Given the description of an element on the screen output the (x, y) to click on. 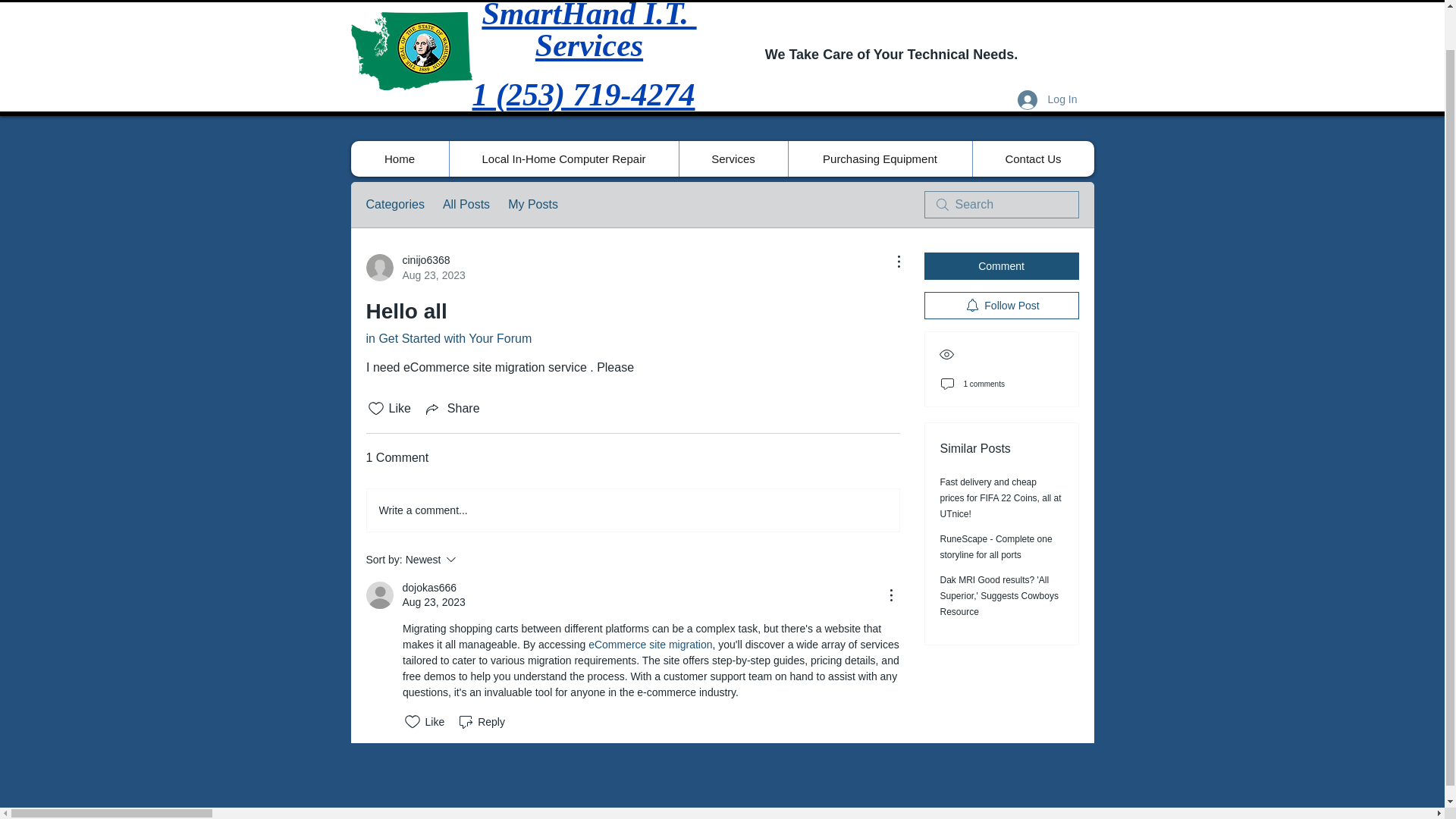
in Get Started with Your Forum (448, 338)
All Posts (465, 204)
Share (451, 408)
Contact Us (1033, 158)
Local In-Home Computer Repair (563, 158)
Categories (414, 267)
Write a comment... (394, 204)
My Posts (632, 509)
